Given the description of an element on the screen output the (x, y) to click on. 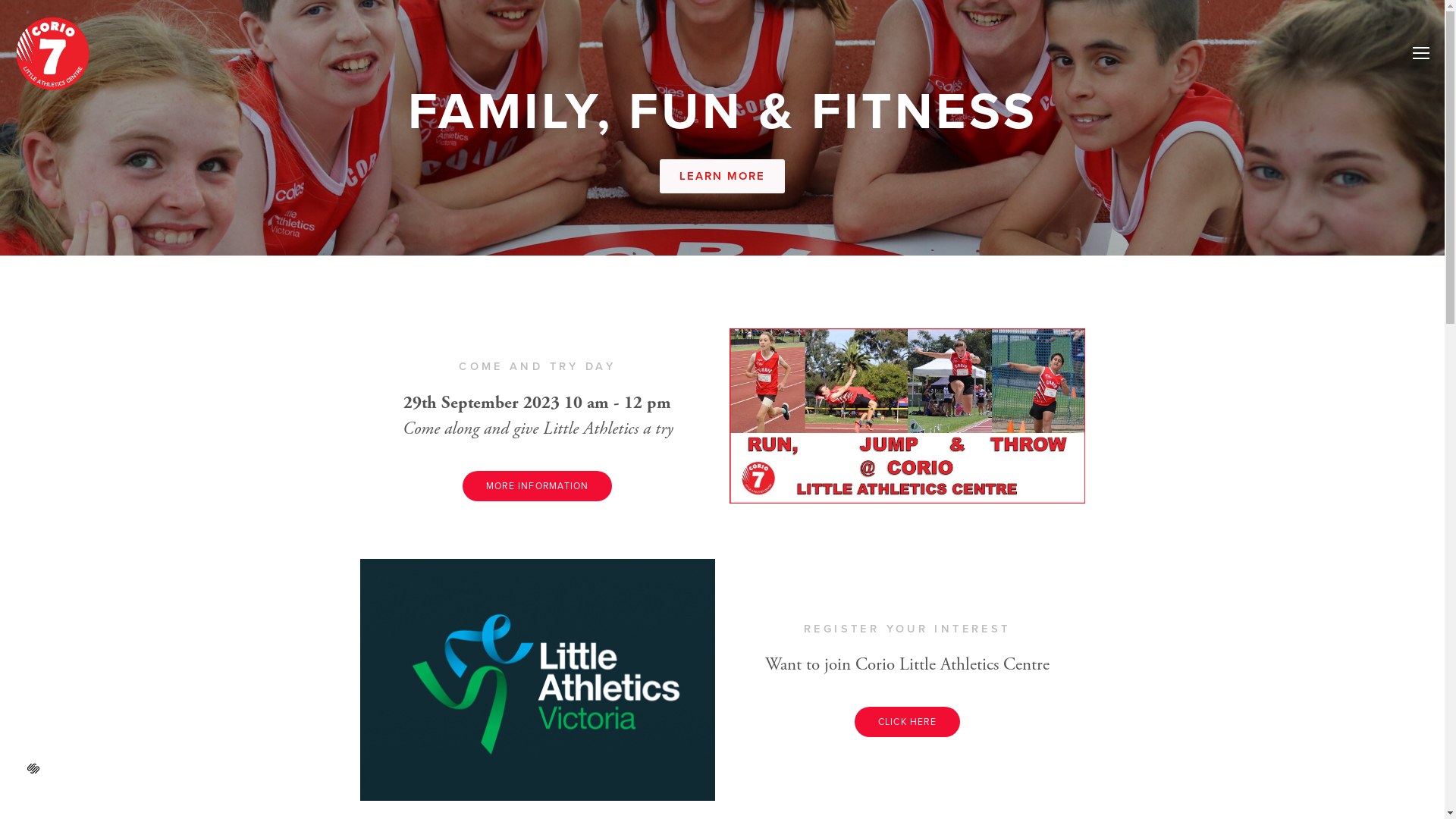
MORE INFORMATION Element type: text (536, 485)
CLICK HERE Element type: text (907, 721)
LEARN MORE Element type: text (722, 176)
